Given the description of an element on the screen output the (x, y) to click on. 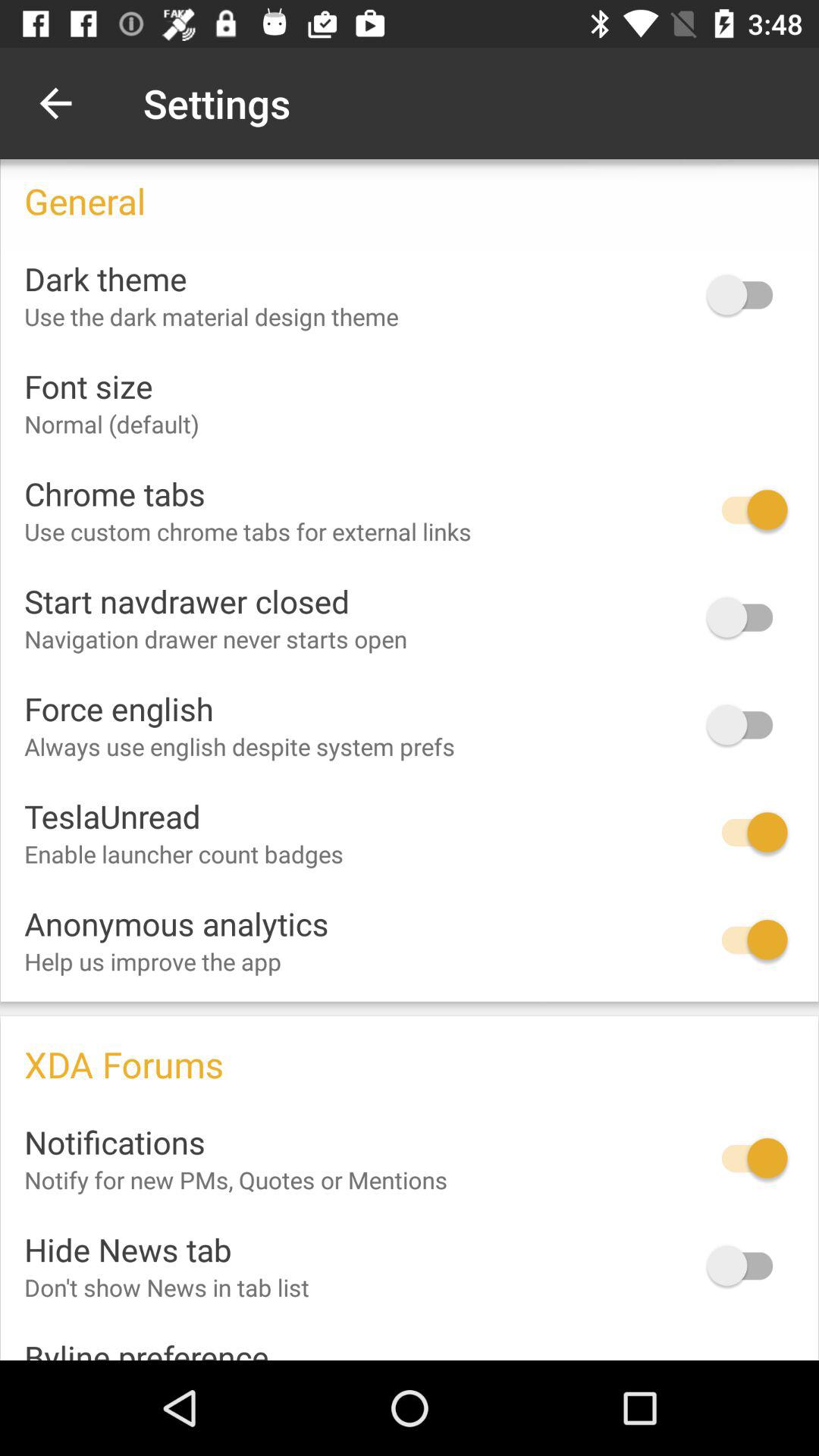
toggle on (747, 617)
